Given the description of an element on the screen output the (x, y) to click on. 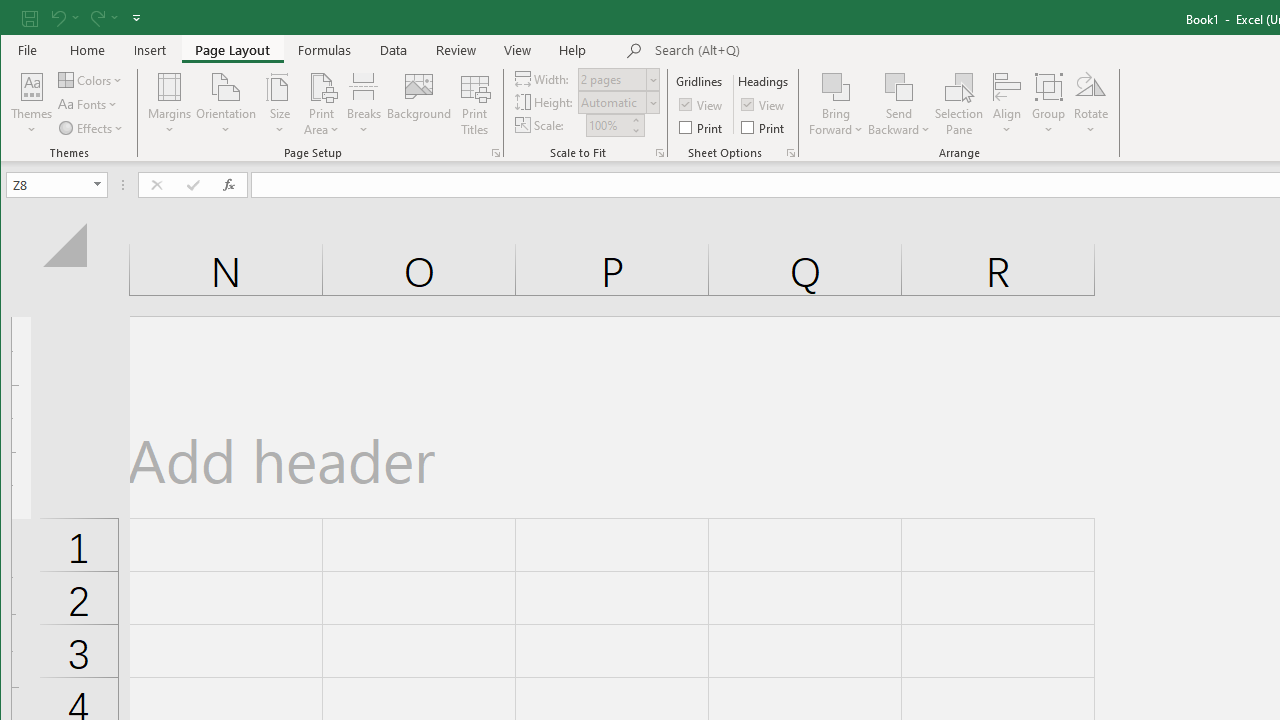
Send Backward (899, 104)
Breaks (364, 104)
Send Backward (899, 86)
Width (619, 78)
Align (1006, 104)
Rotate (1091, 104)
Group (1048, 104)
Width (612, 79)
Margins (169, 104)
